Given the description of an element on the screen output the (x, y) to click on. 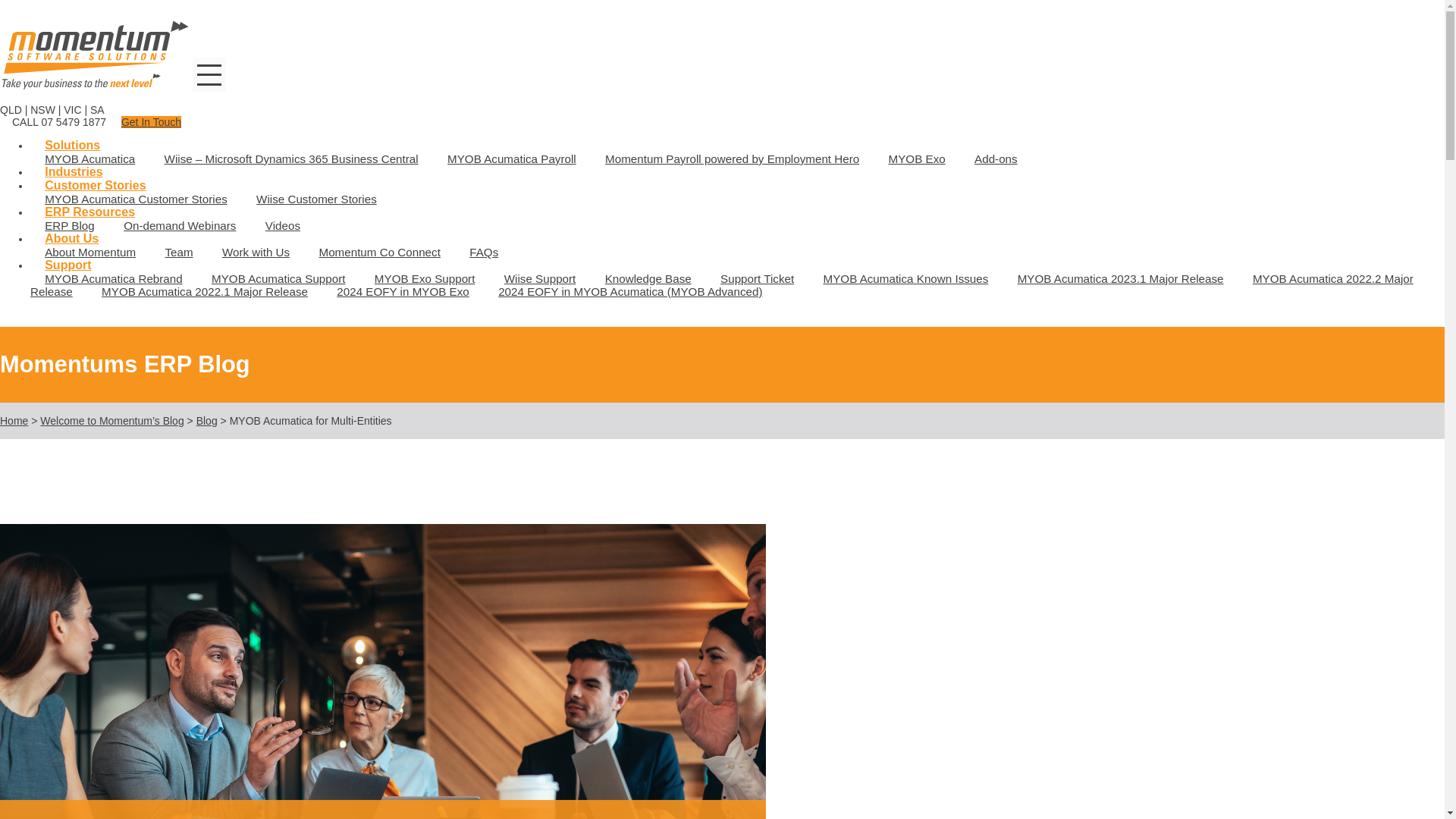
MYOB Acumatica Known Issues (905, 278)
FAQs (483, 251)
Momentum Payroll powered by Employment Hero (732, 159)
Momentum Co Connect (379, 251)
ERP Blog (69, 225)
About Us (71, 238)
Support (60, 264)
2024 EOFY in MYOB Exo (402, 291)
On-demand Webinars (179, 225)
MYOB Acumatica 2022.1 Major Release (204, 291)
Customer Stories (95, 185)
CALL 07 5479 1877 (58, 121)
MYOB Exo Support (424, 278)
MYOB Exo (916, 159)
MYOB Acumatica Support (277, 278)
